Given the description of an element on the screen output the (x, y) to click on. 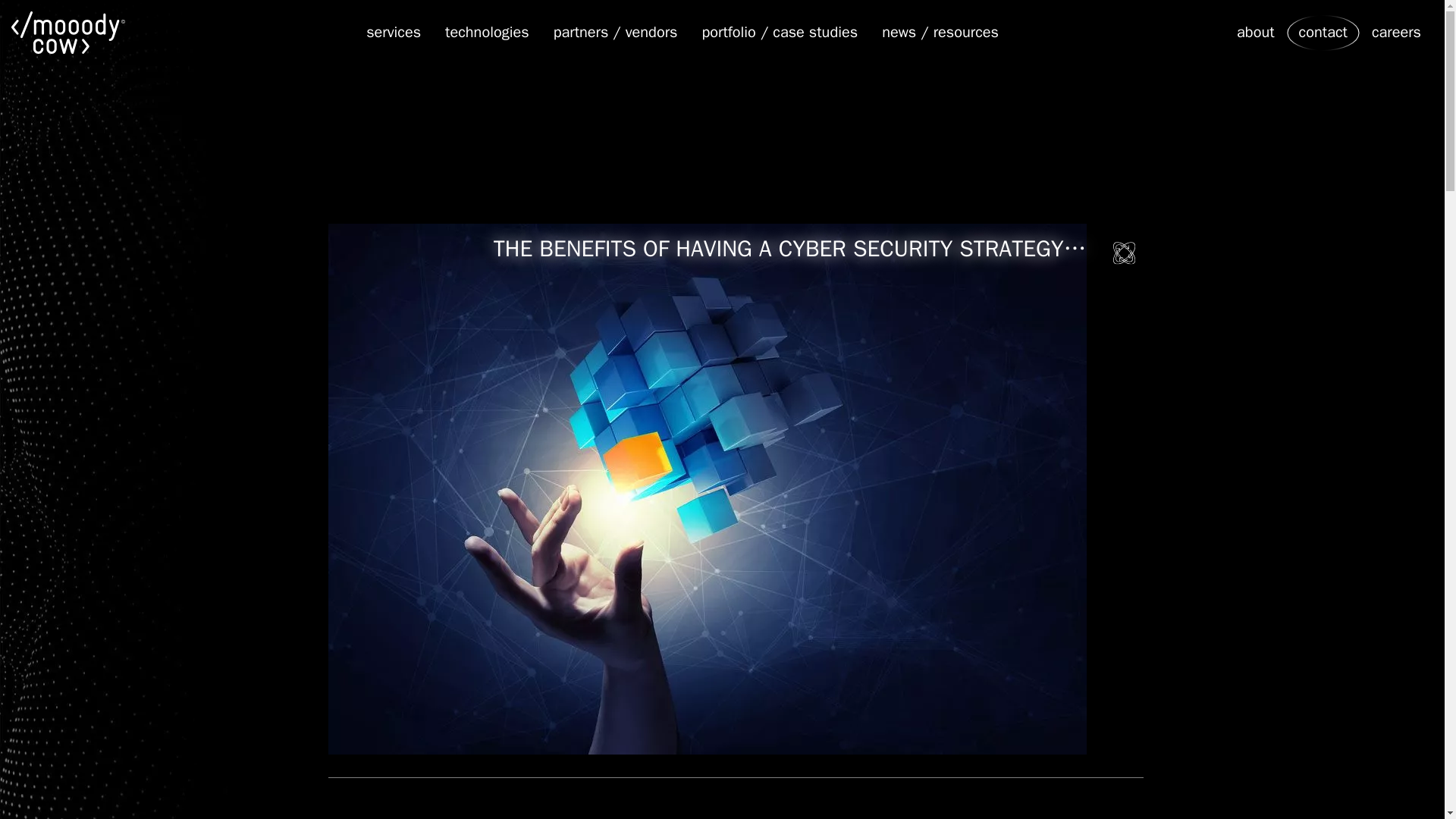
services (392, 32)
contact (1323, 32)
technologies (486, 32)
about (1255, 32)
careers (1395, 32)
